Given the description of an element on the screen output the (x, y) to click on. 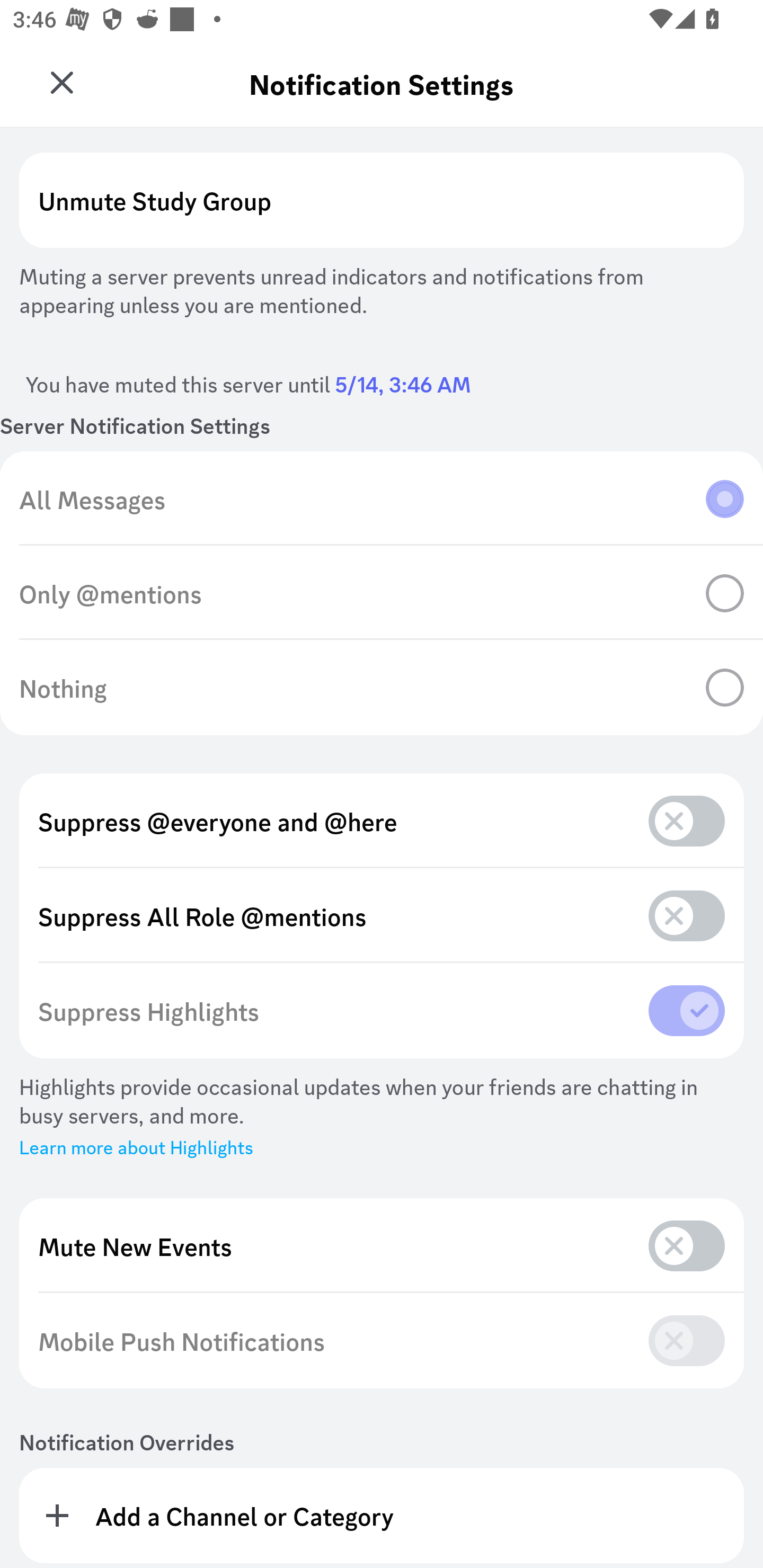
  Study Group SG (66, 75)
Unmute Study Group (381, 199)
All Messages,  All Messages (381, 499)
Only @mentions,  Only @mentions (381, 593)
Nothing,  Nothing (381, 687)
off (686, 820)
off (686, 915)
on Suppress Highlights,  Suppress Highlights on (381, 1010)
on (686, 1010)
off Mute New Events,  Mute New Events off (381, 1245)
off (686, 1245)
off (686, 1340)
Add a Channel or Category (381, 1515)
